Given the description of an element on the screen output the (x, y) to click on. 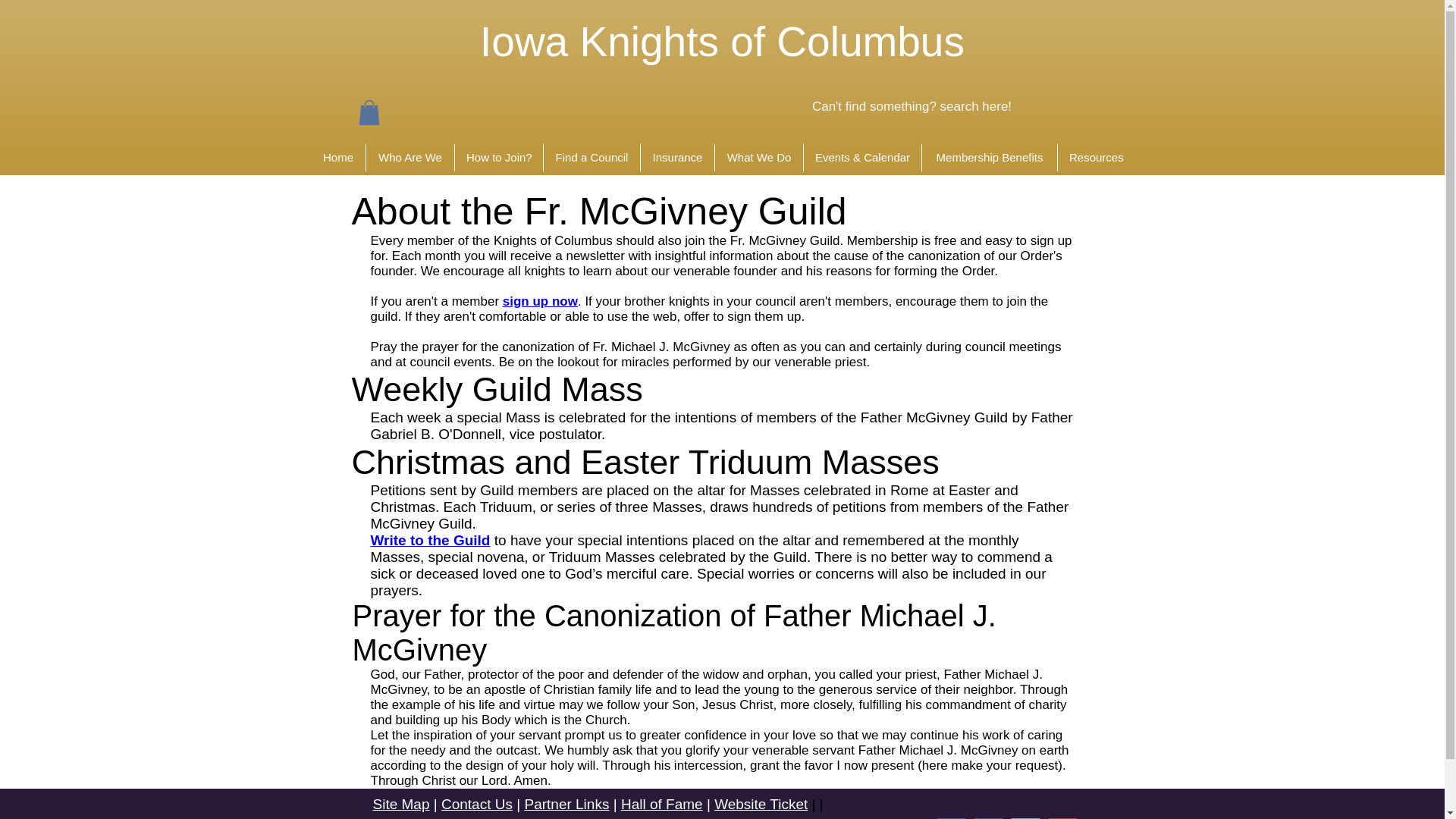
Who Are We (410, 157)
Membership Benefits (989, 157)
What We Do (758, 157)
Find a Council (591, 157)
How to Join? (498, 157)
Home (338, 157)
Insurance (677, 157)
Resources (1096, 157)
Iowa Knights of Columbus (721, 41)
